Given the description of an element on the screen output the (x, y) to click on. 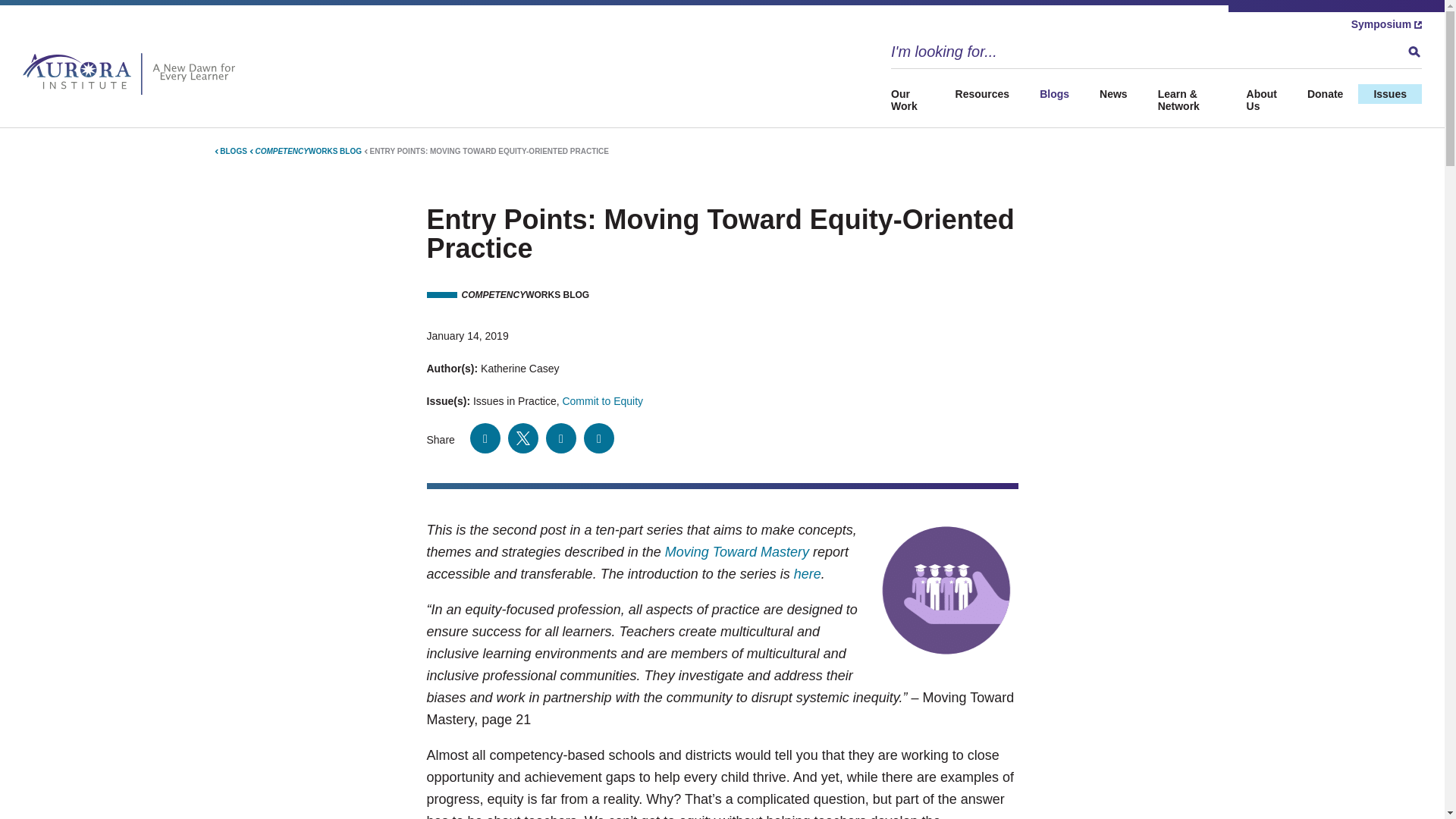
Our Work (915, 100)
Blogs (1054, 94)
Aurora Institute (133, 74)
Symposium (1386, 24)
Resources (982, 94)
News (1113, 94)
